Given the description of an element on the screen output the (x, y) to click on. 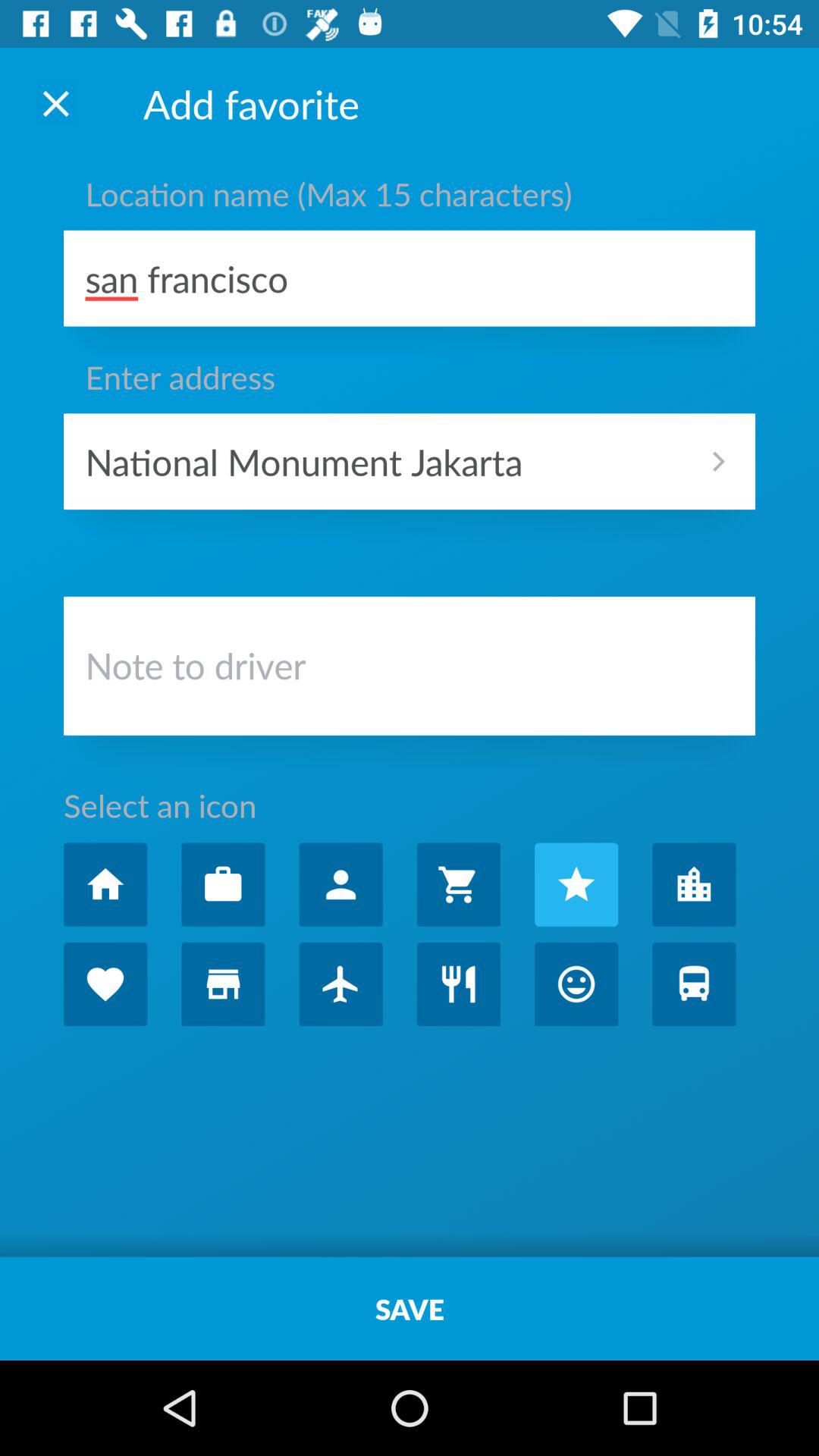
close current page (55, 103)
